Given the description of an element on the screen output the (x, y) to click on. 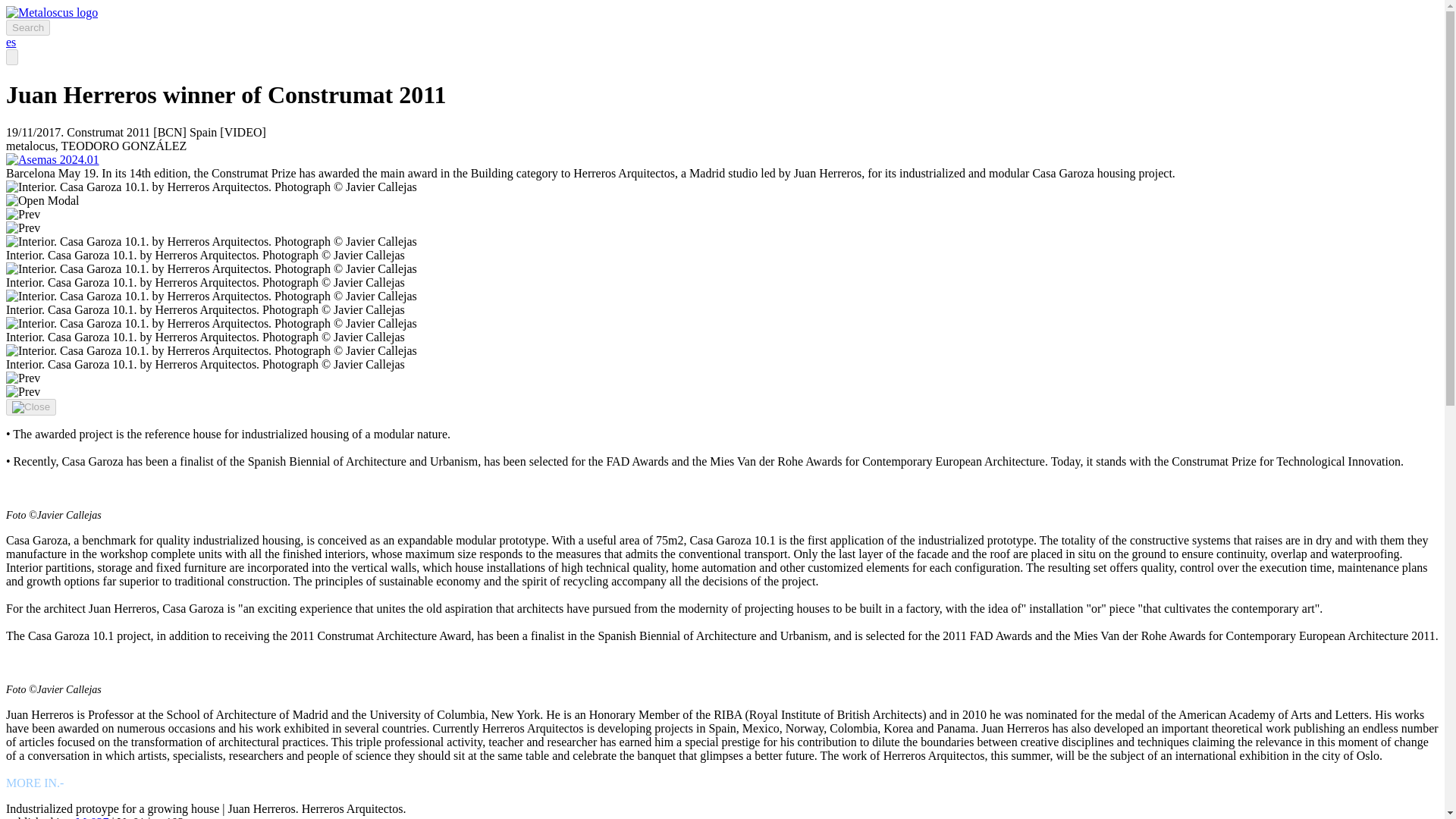
Search (27, 27)
M-027 (92, 817)
es (10, 42)
